Given the description of an element on the screen output the (x, y) to click on. 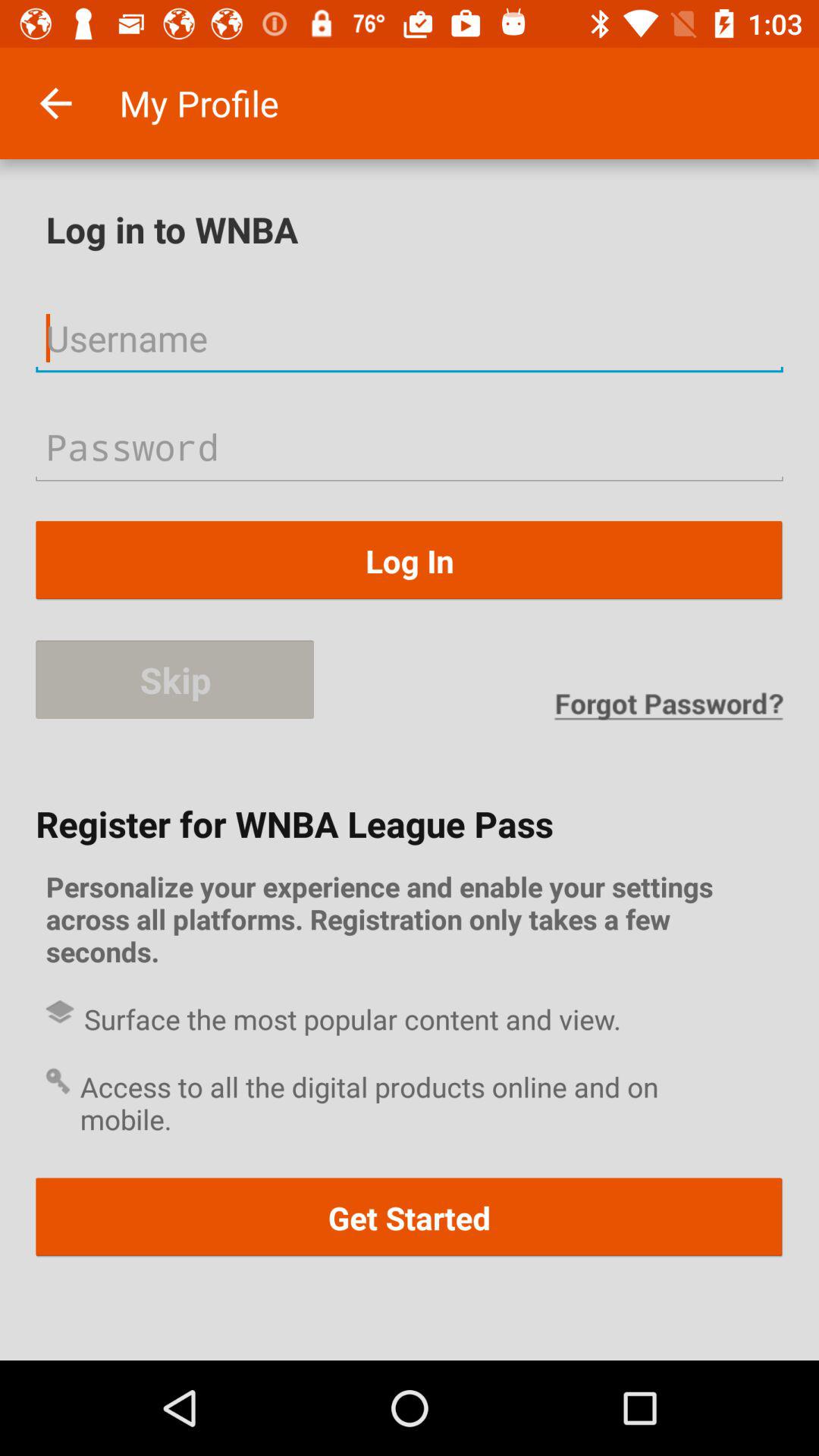
input password (409, 446)
